Given the description of an element on the screen output the (x, y) to click on. 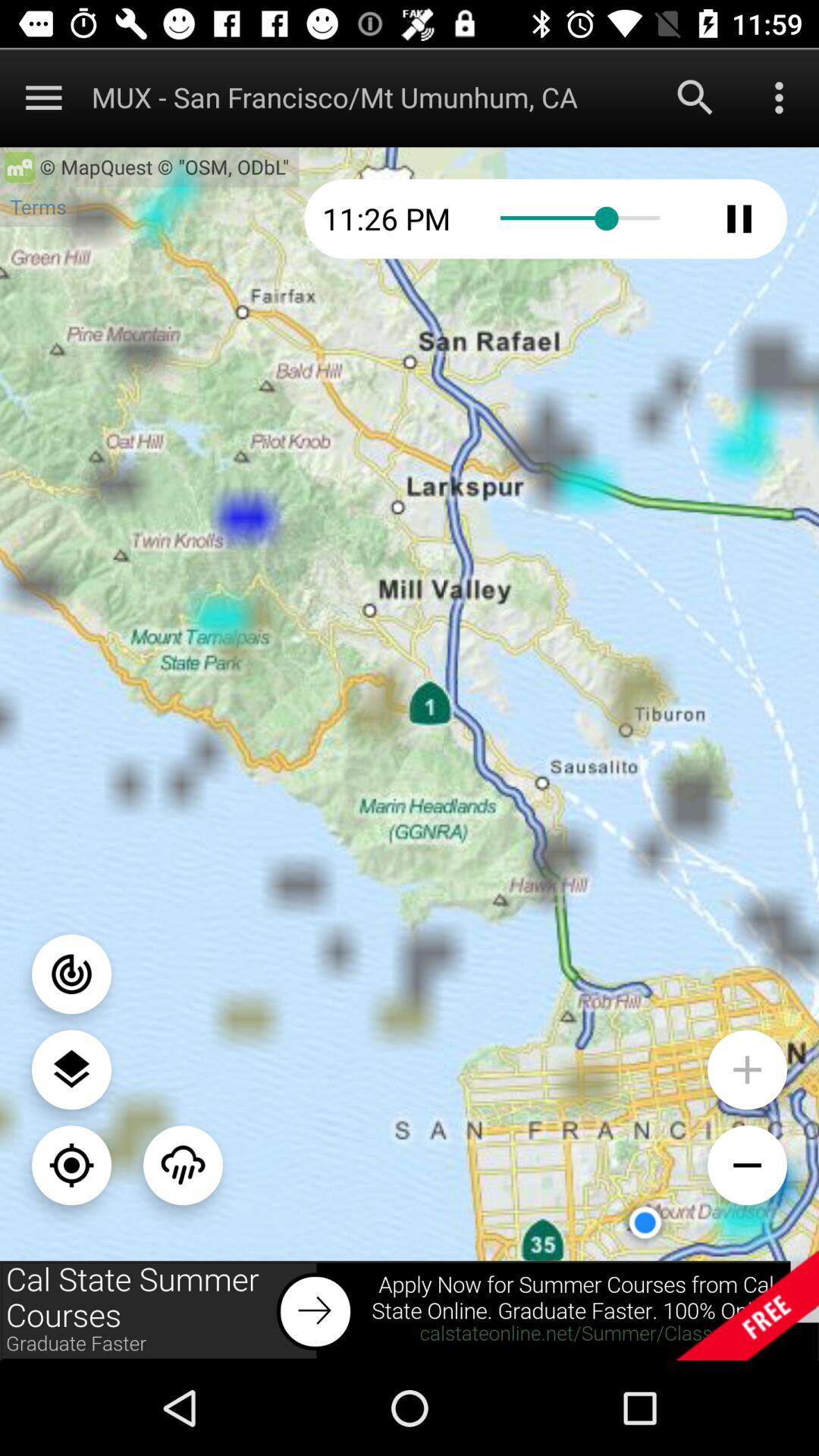
open advertisement (409, 1310)
